Given the description of an element on the screen output the (x, y) to click on. 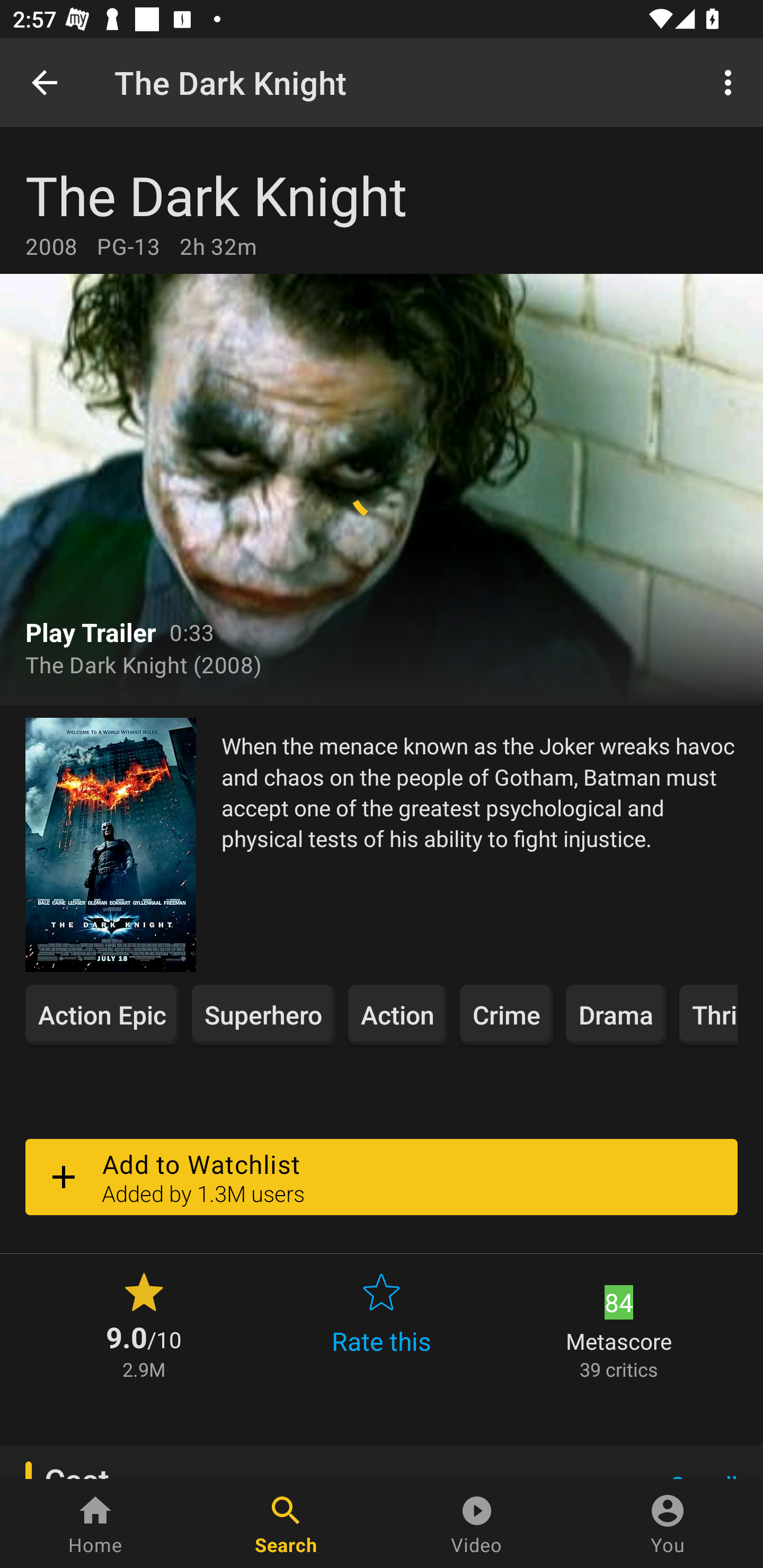
More options (731, 81)
Action Epic (102, 1014)
Superhero (263, 1014)
Action (397, 1014)
Crime (506, 1014)
Drama (616, 1014)
Add to Watchlist Added by 1.3M users (381, 1176)
9.0 /10 2.9M (143, 1323)
Rate this (381, 1323)
84 Metascore 39 critics (618, 1323)
Home (95, 1523)
Video (476, 1523)
You (667, 1523)
